Given the description of an element on the screen output the (x, y) to click on. 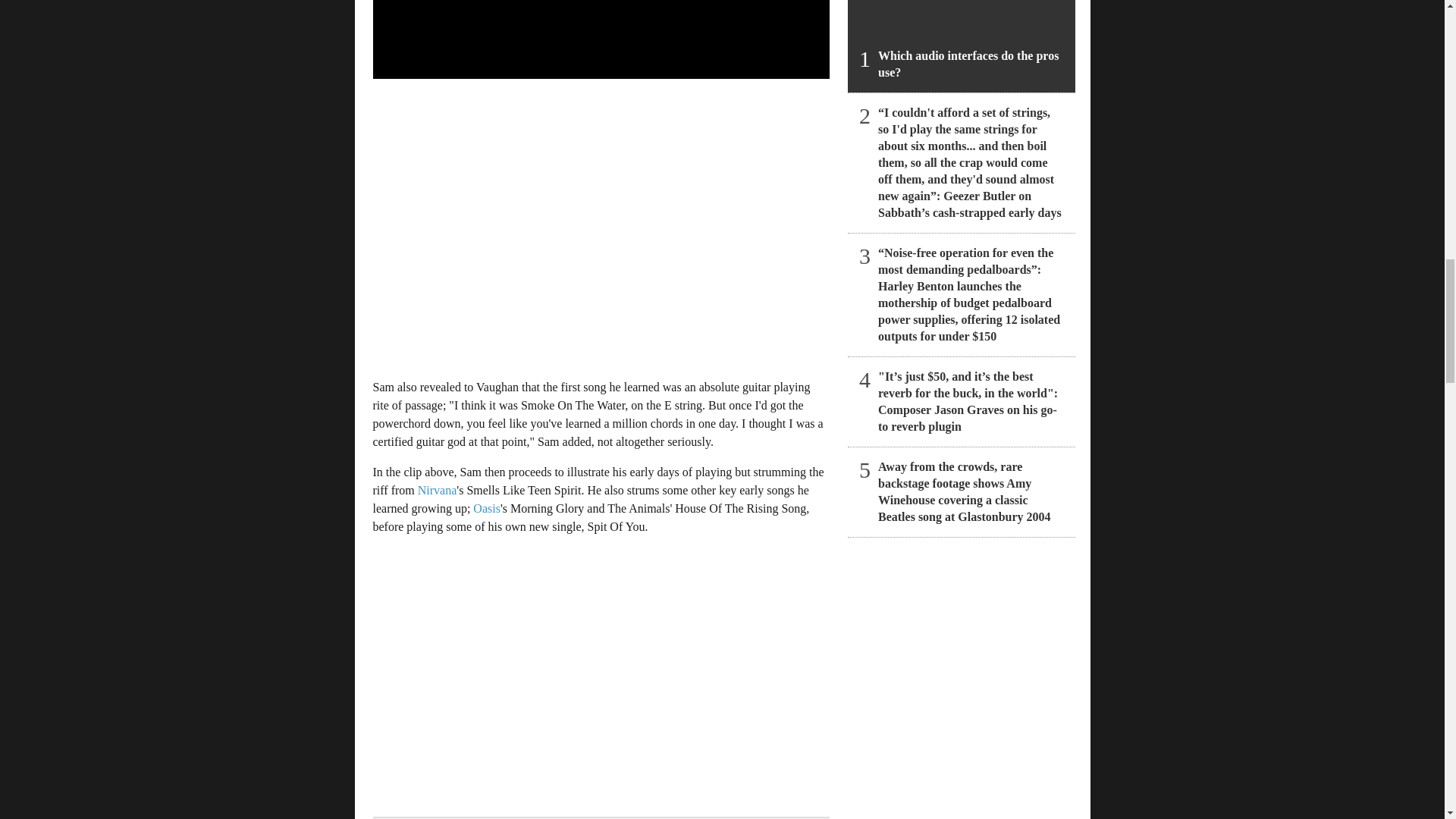
Which audio interfaces do the pros use? (961, 46)
